Given the description of an element on the screen output the (x, y) to click on. 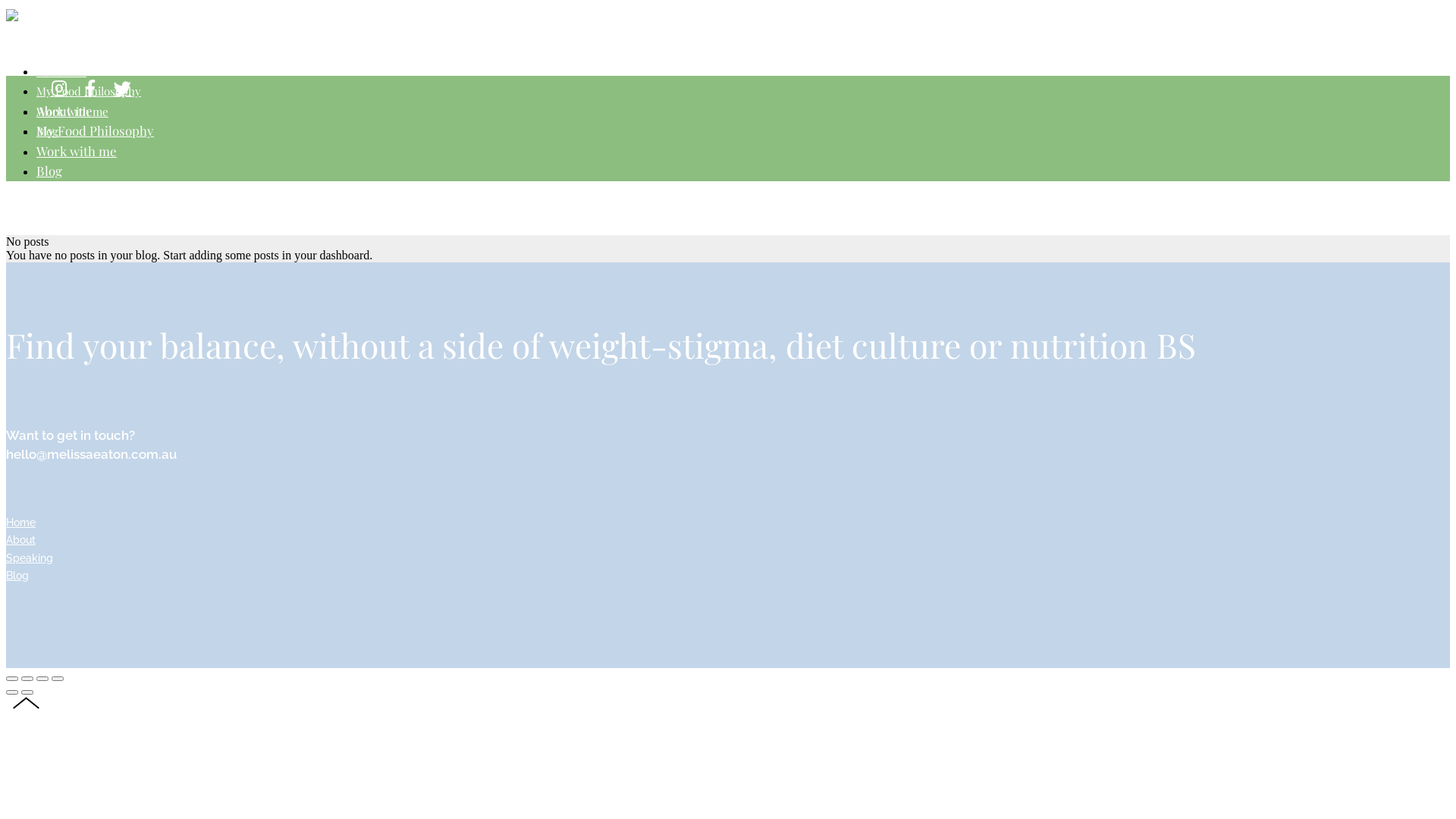
Previous (arrow left) Element type: hover (12, 692)
Blog Element type: text (49, 170)
About me Element type: text (64, 110)
Next (arrow right) Element type: hover (27, 692)
Toggle fullscreen Element type: hover (42, 678)
Home Element type: text (20, 522)
Speaking Element type: text (29, 558)
About Element type: text (20, 539)
Zoom in/out Element type: hover (57, 678)
My Food Philosophy Element type: text (88, 89)
Work with me Element type: text (76, 150)
Blog Element type: text (47, 130)
Close (Esc) Element type: hover (12, 678)
Work with me Element type: text (72, 110)
Blog Element type: text (17, 575)
Share Element type: hover (27, 678)
About me Element type: text (61, 70)
Melissa Eaton Element type: hover (22, 15)
My Food Philosophy Element type: text (94, 130)
